Given the description of an element on the screen output the (x, y) to click on. 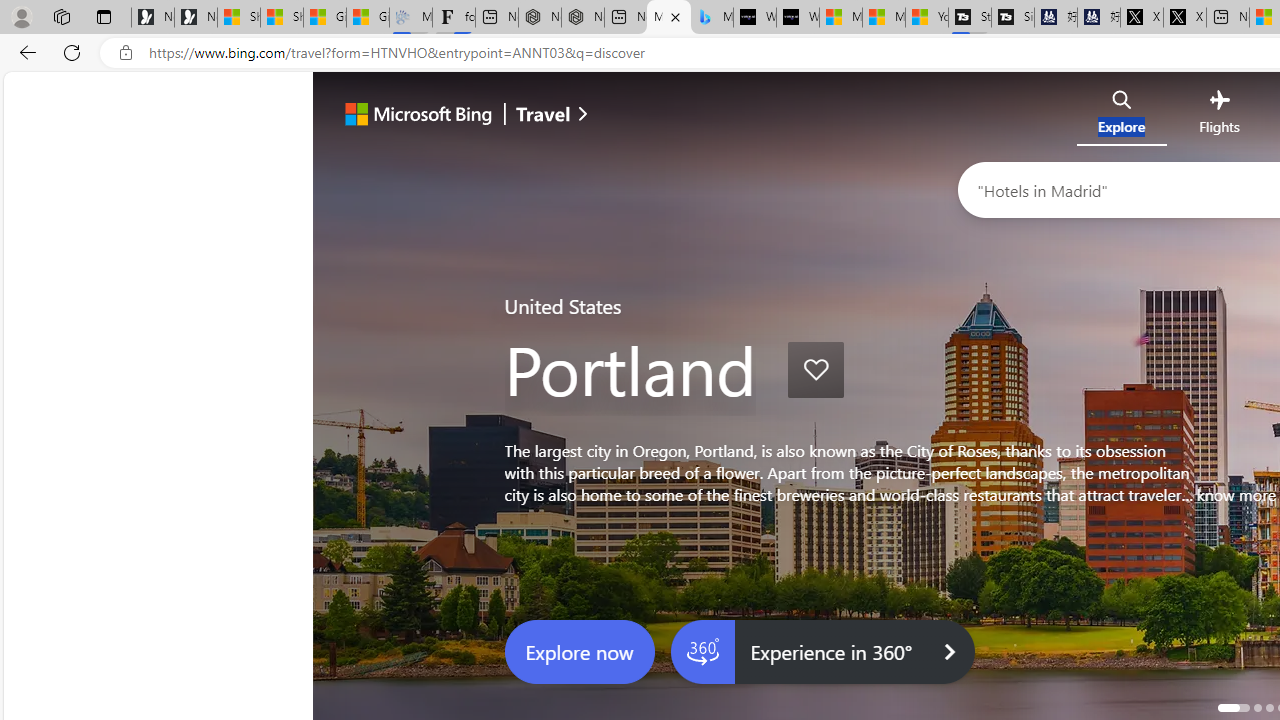
Close tab (674, 16)
Save to collections (816, 370)
What's the best AI voice generator? - voice.ai (798, 17)
Shanghai, China weather forecast | Microsoft Weather (282, 17)
Streaming Coverage | T3 (969, 17)
Microsoft Bing Travel - Shangri-La Hotel Bangkok (712, 17)
Class: msft-travel-logo (543, 114)
Explore (1121, 116)
Microsoft Start Sports (840, 17)
Microsoft Bing (410, 116)
Back (24, 52)
Class: msft-bing-logo msft-bing-logo-desktop (413, 114)
